Given the description of an element on the screen output the (x, y) to click on. 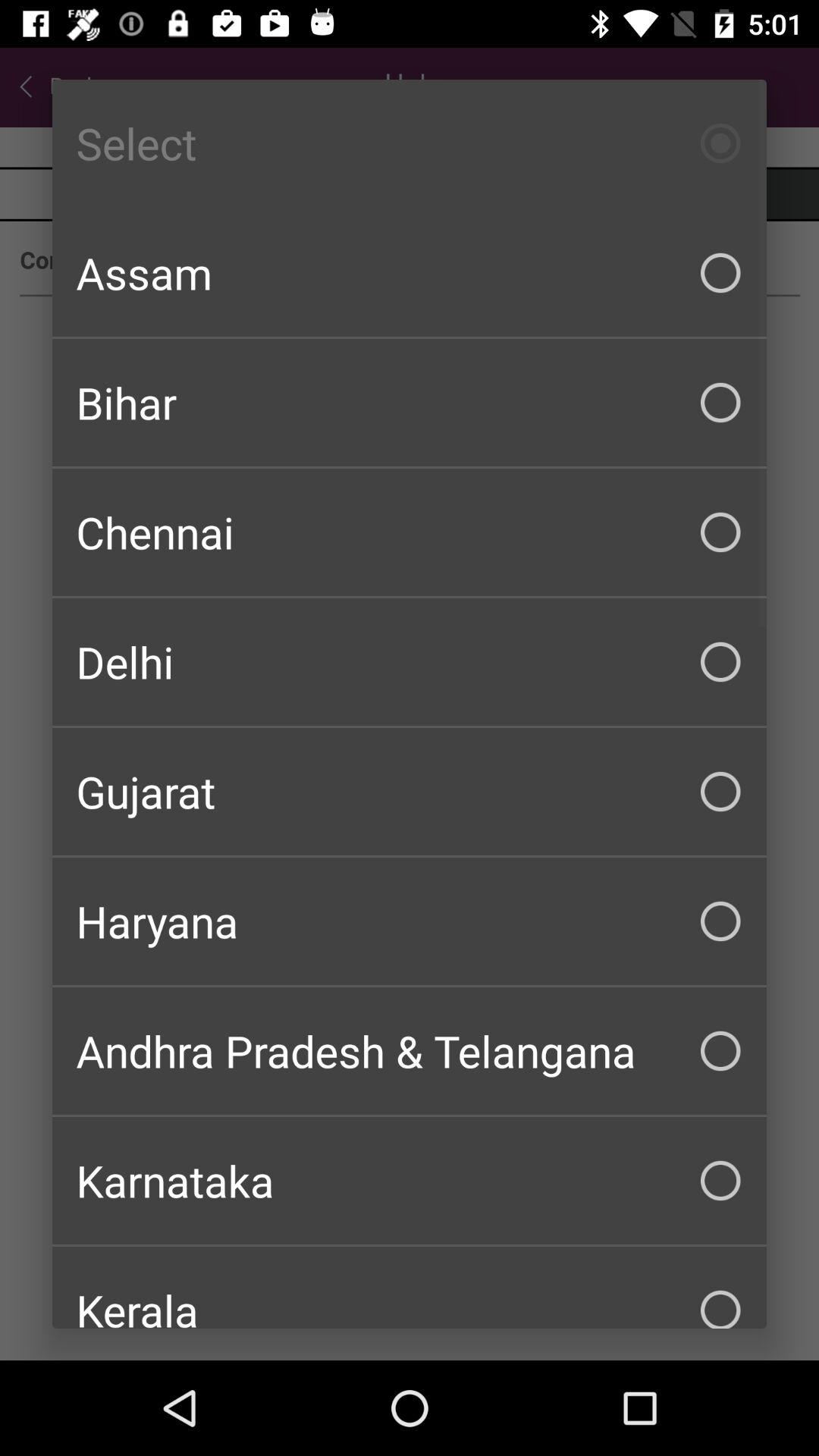
turn on icon above delhi icon (409, 532)
